Given the description of an element on the screen output the (x, y) to click on. 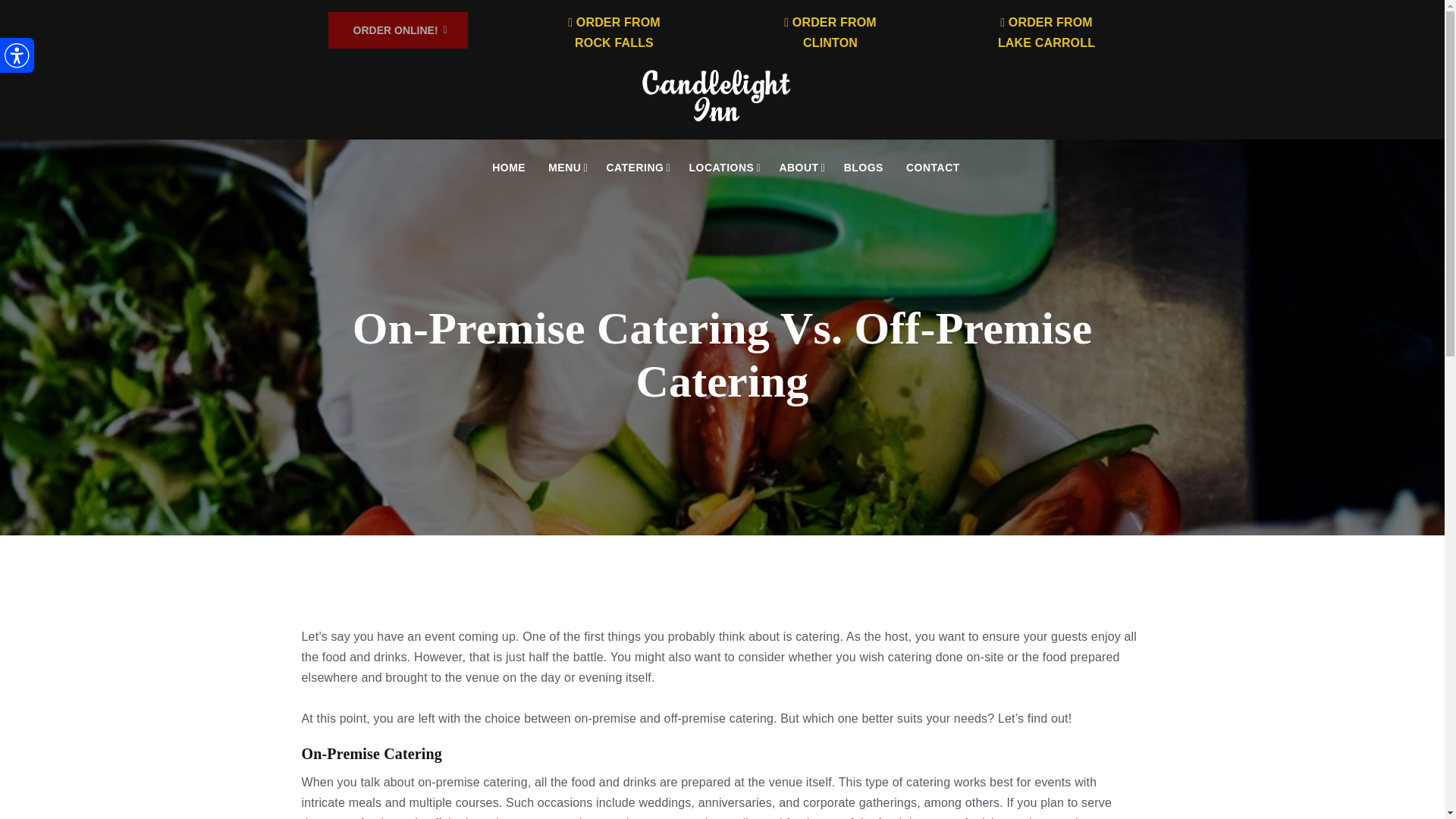
HOME (1045, 32)
LOCATIONS (508, 167)
CATERING (614, 32)
BLOGS (721, 167)
MENU (830, 32)
ORDER ONLINE! (635, 167)
ABOUT (863, 167)
CONTACT (565, 167)
